Given the description of an element on the screen output the (x, y) to click on. 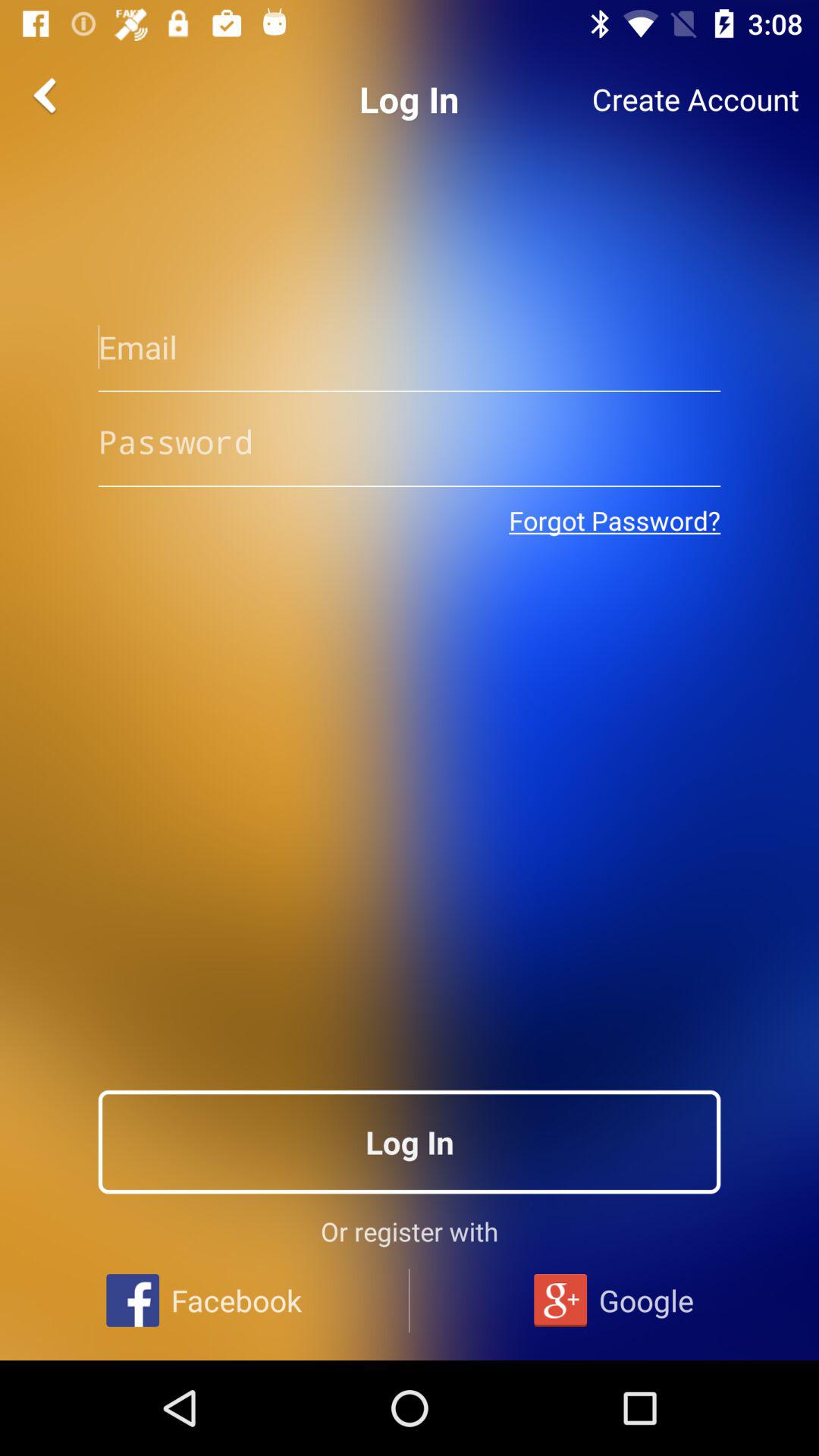
select the item above log in icon (614, 520)
